Given the description of an element on the screen output the (x, y) to click on. 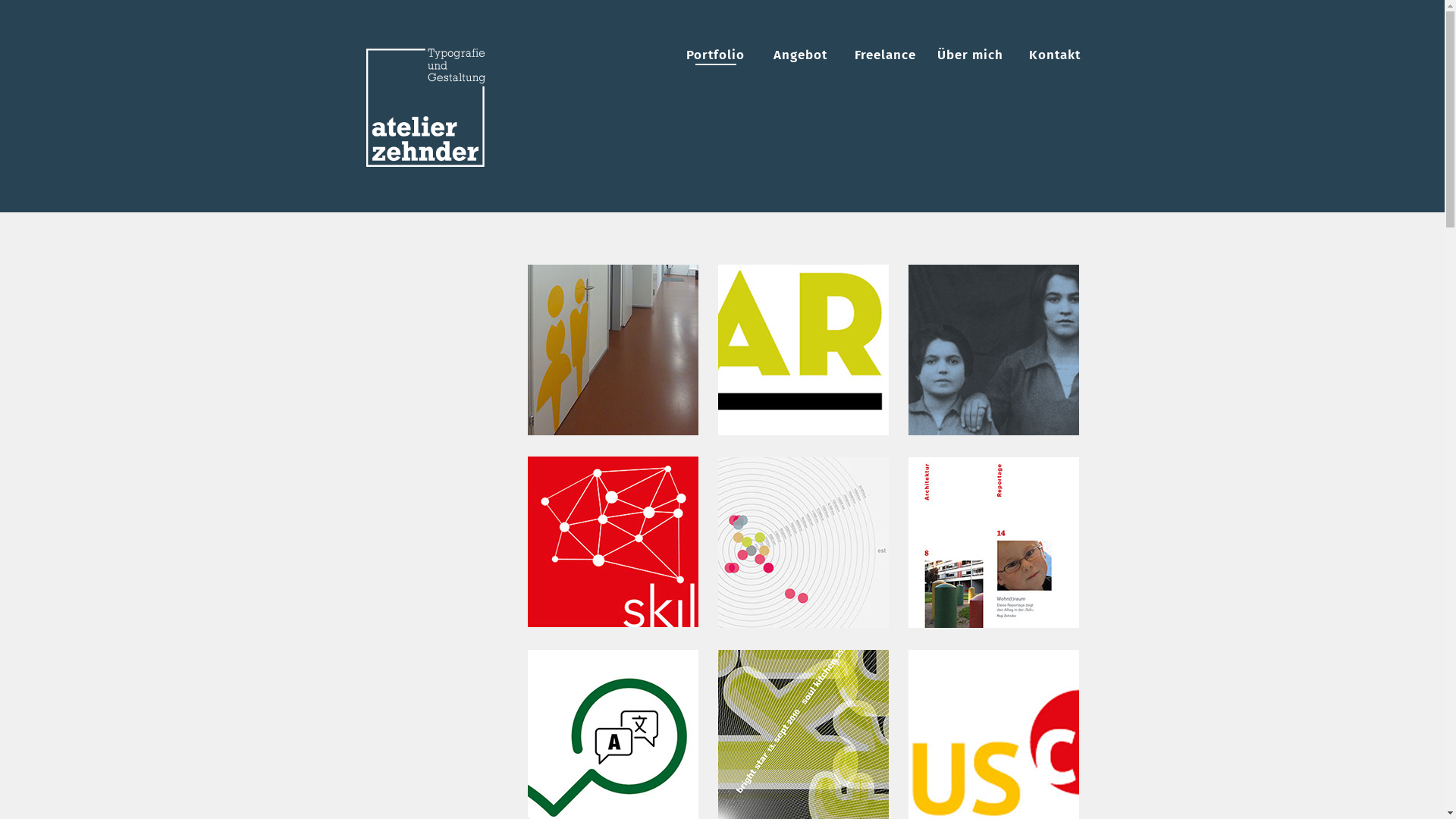
Kontakt Element type: text (1055, 54)
Angebot Element type: text (799, 54)
Freelance Element type: text (884, 54)
Portfolio Element type: text (714, 54)
